Given the description of an element on the screen output the (x, y) to click on. 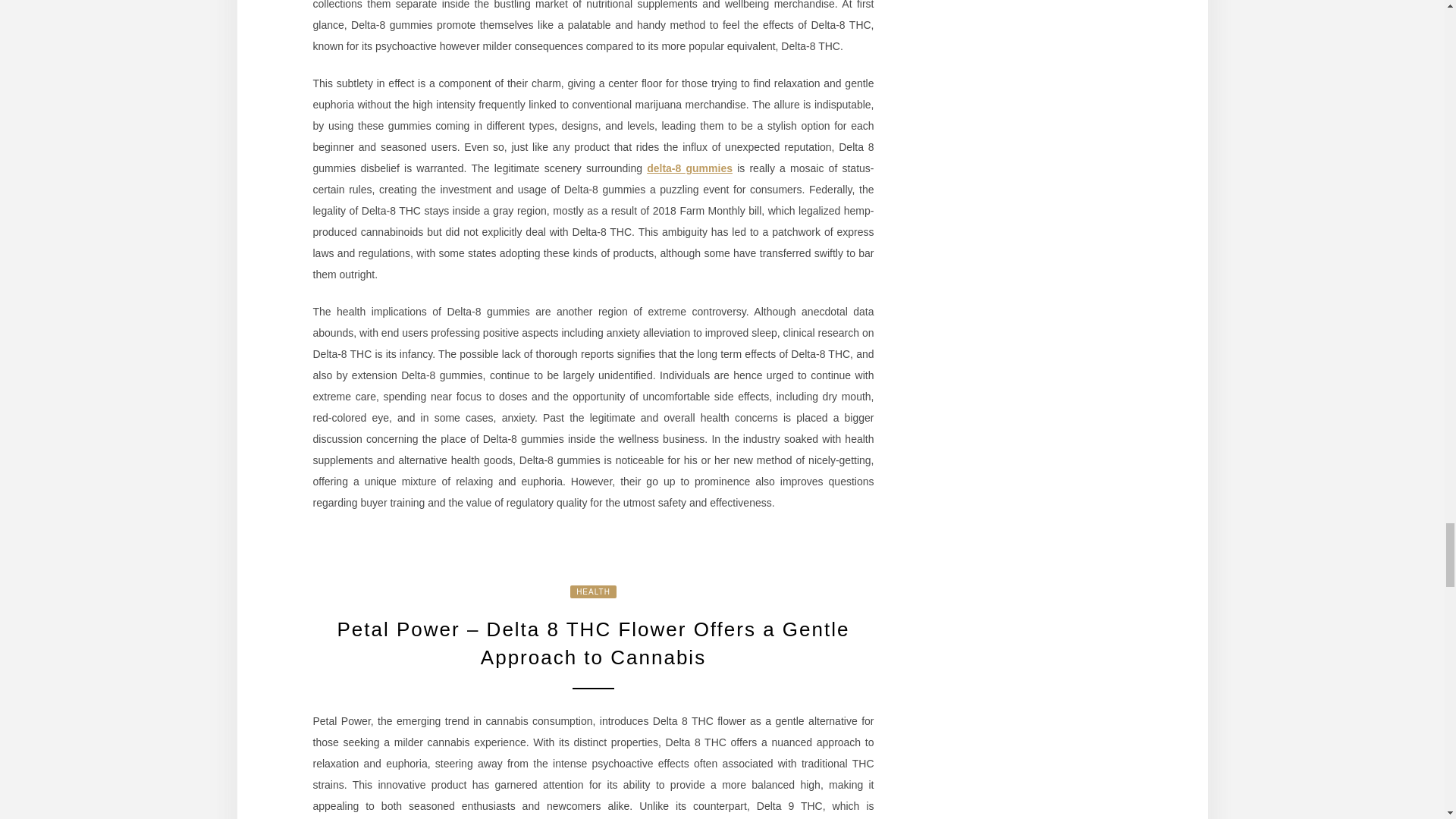
delta-8 gummies (689, 168)
HEALTH (592, 591)
